Given the description of an element on the screen output the (x, y) to click on. 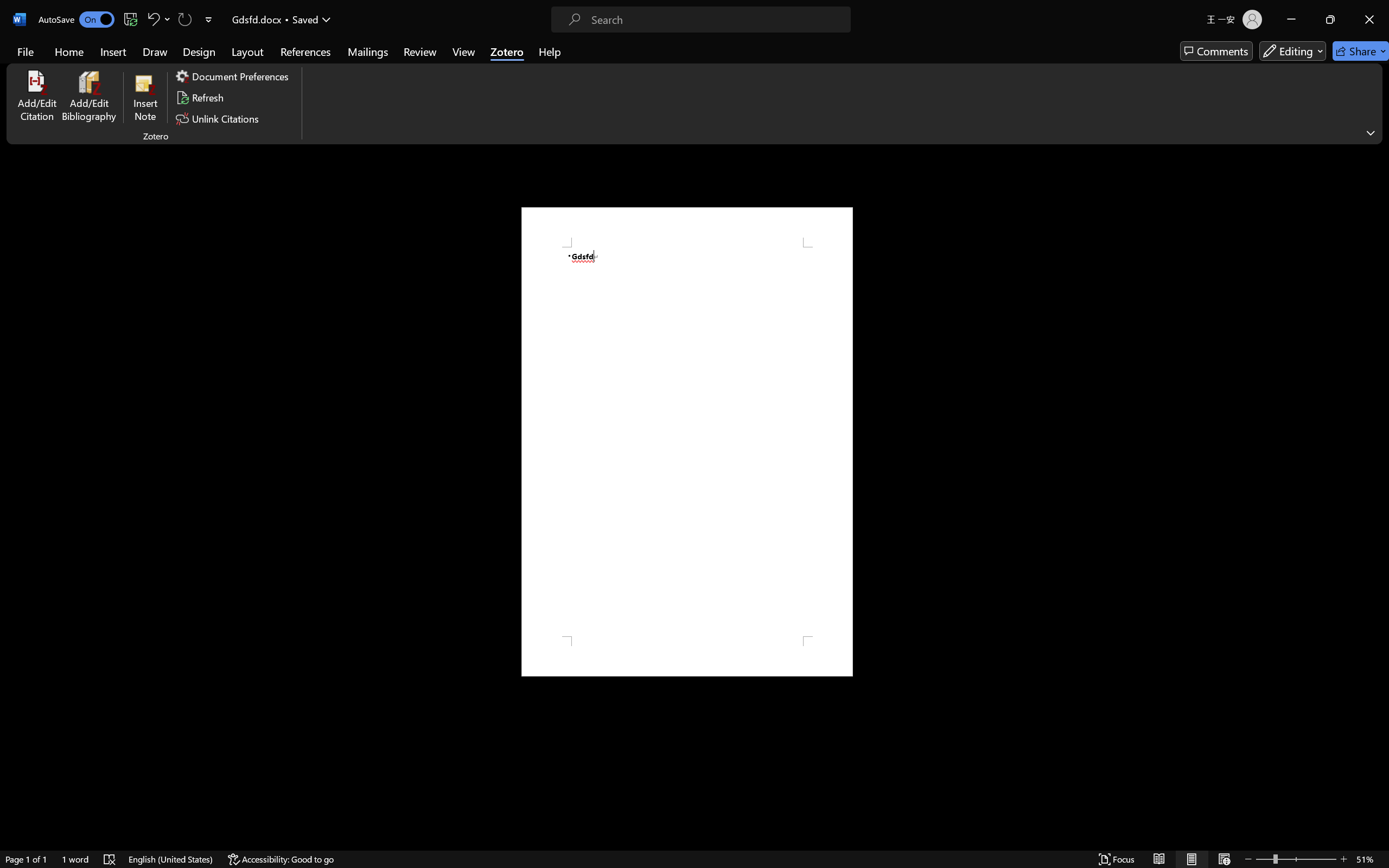
Page 1 content (686, 441)
